Given the description of an element on the screen output the (x, y) to click on. 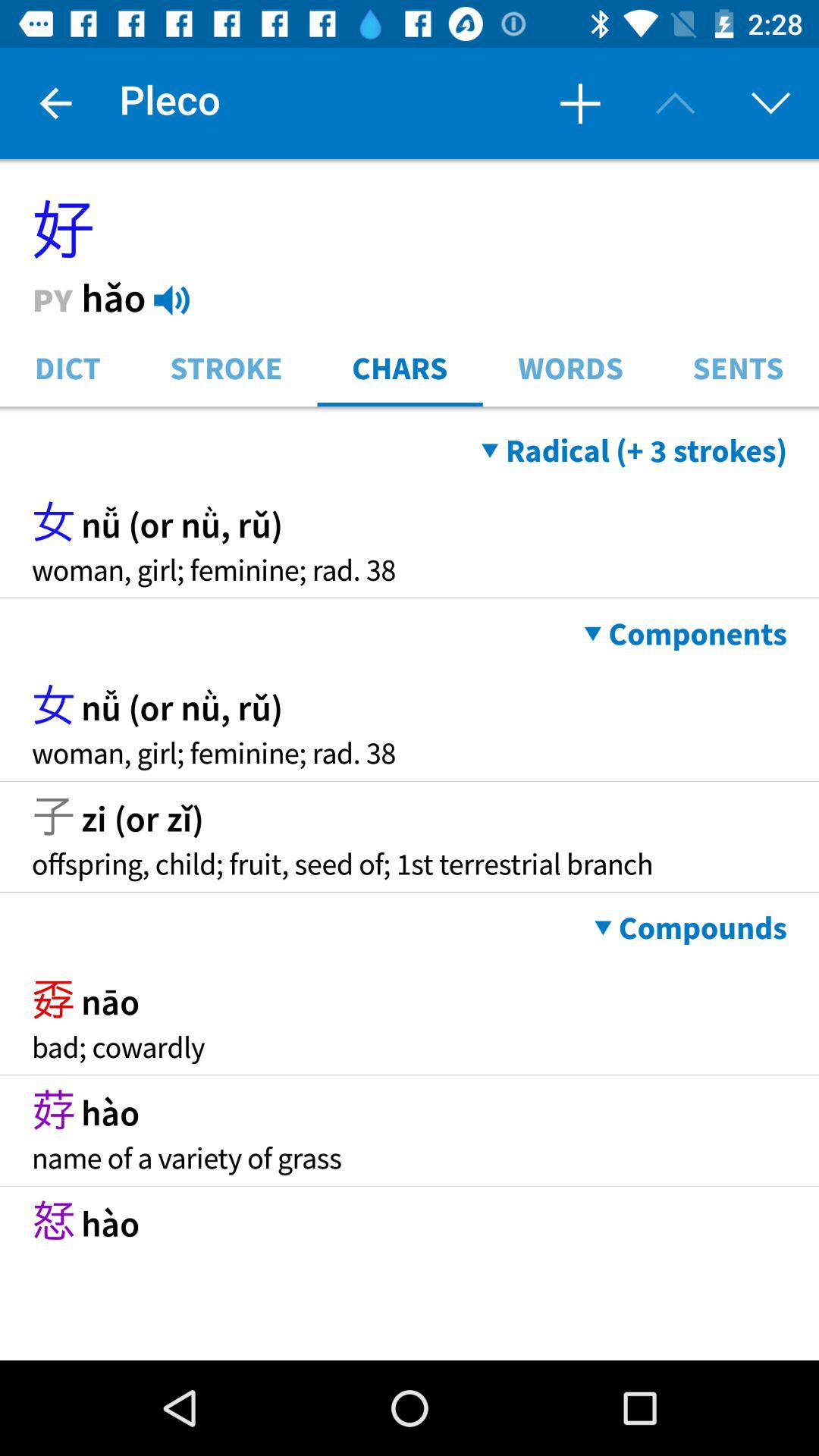
launch icon next to dict item (226, 366)
